Given the description of an element on the screen output the (x, y) to click on. 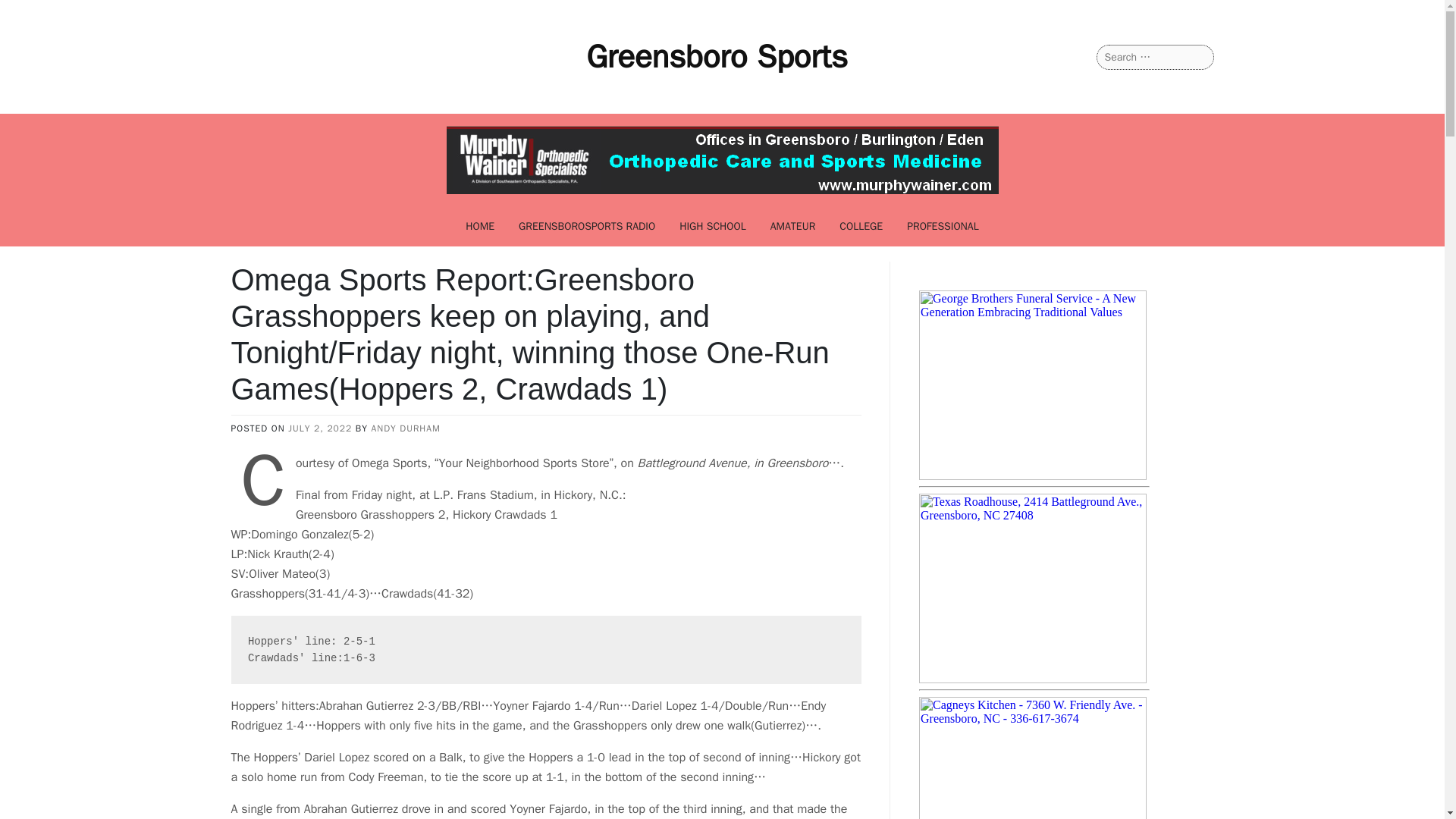
GREENSBOROSPORTS RADIO (586, 226)
AMATEUR (793, 226)
ANDY DURHAM (406, 428)
Search (31, 12)
PROFESSIONAL (943, 226)
HOME (479, 226)
HIGH SCHOOL (712, 226)
COLLEGE (861, 226)
Greensboro Sports (716, 56)
JULY 2, 2022 (320, 428)
